Given the description of an element on the screen output the (x, y) to click on. 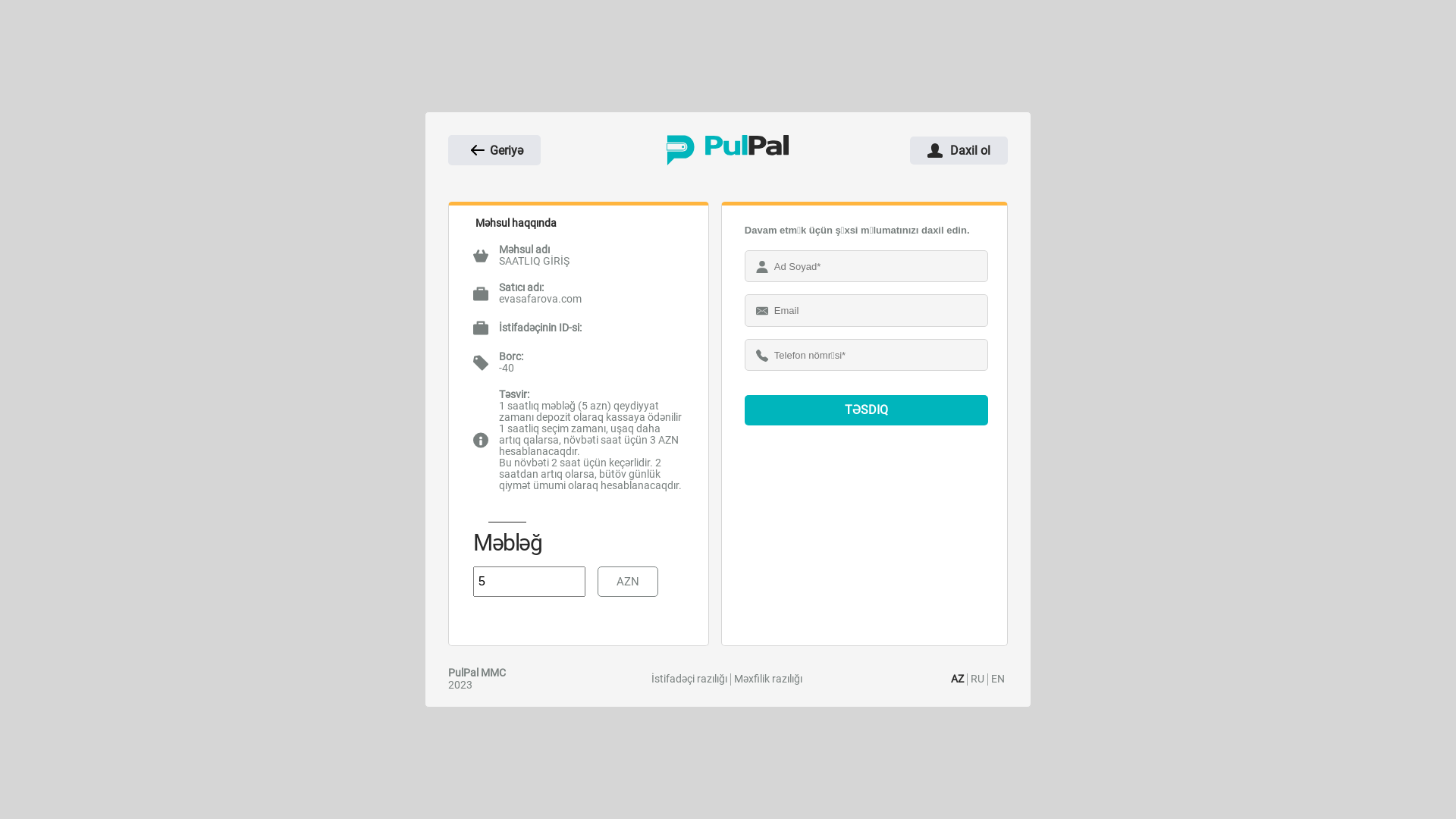
Daxil ol Element type: text (958, 150)
